Given the description of an element on the screen output the (x, y) to click on. 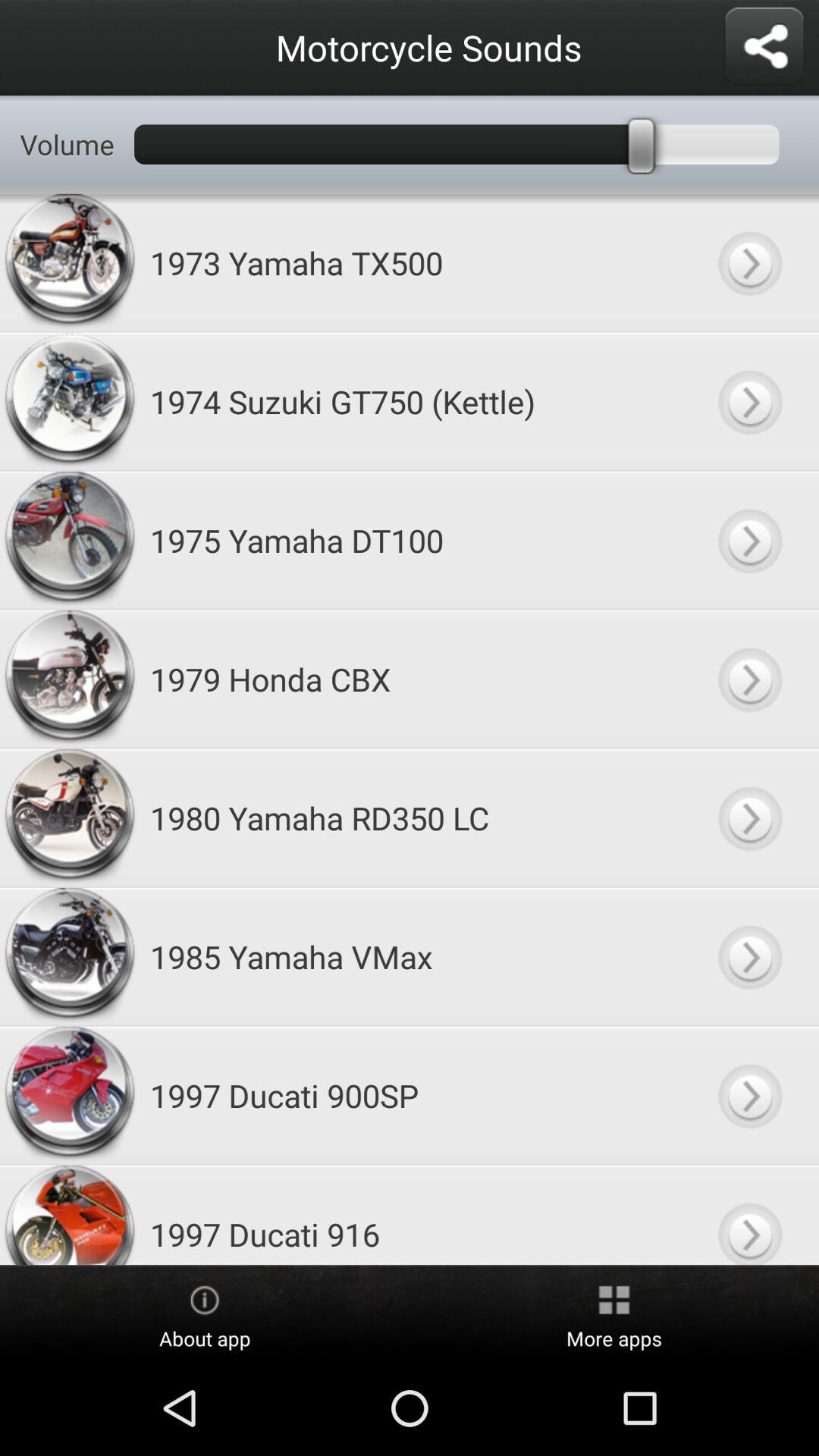
go to widgets (764, 47)
